Given the description of an element on the screen output the (x, y) to click on. 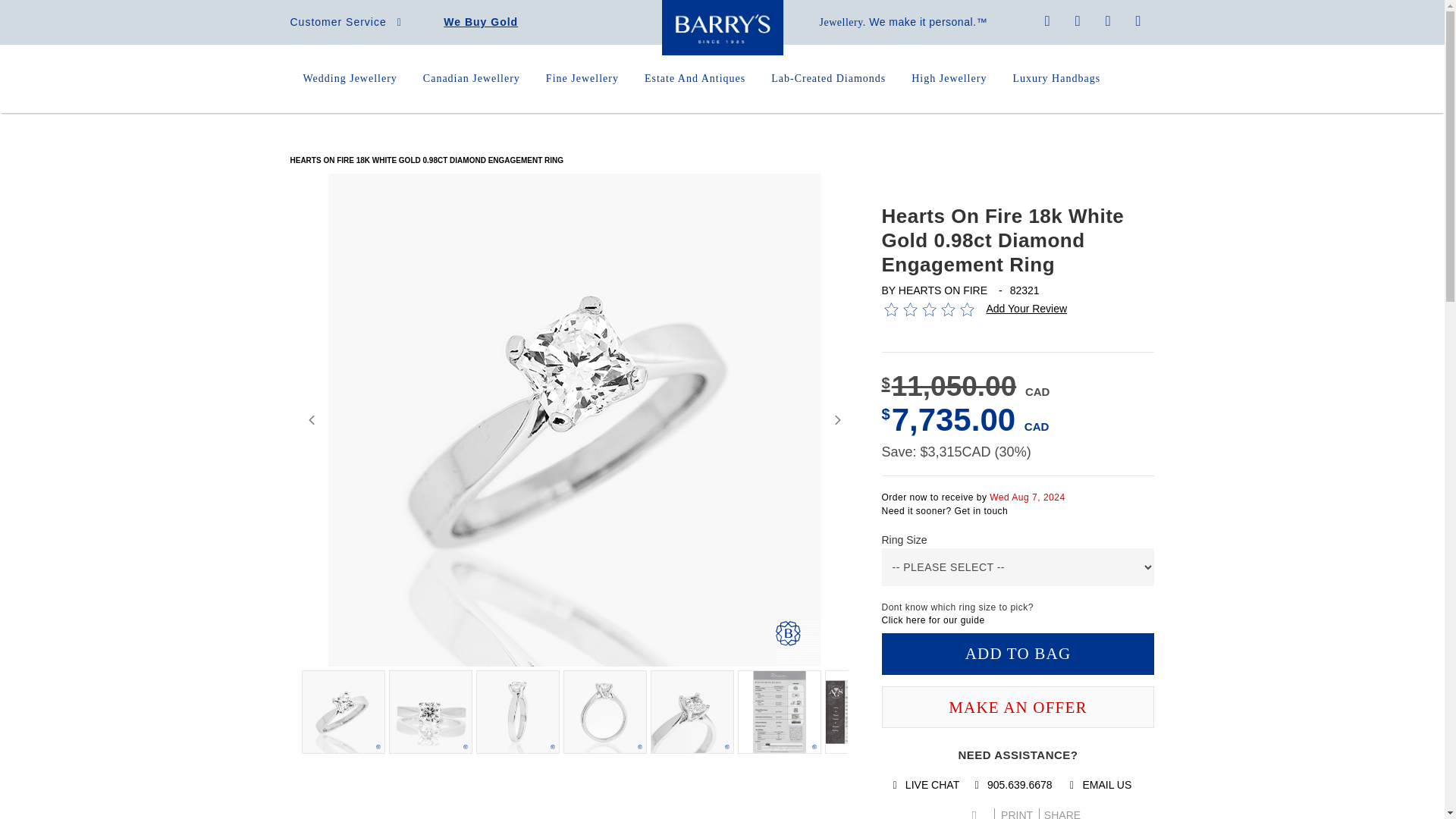
We Buy Gold (481, 21)
Shopping Bag (1137, 21)
Search (1078, 21)
Wedding Jewellery (349, 79)
Add To Bag (1017, 653)
Canadian Jewellery (471, 79)
Wishlist (1108, 21)
